Given the description of an element on the screen output the (x, y) to click on. 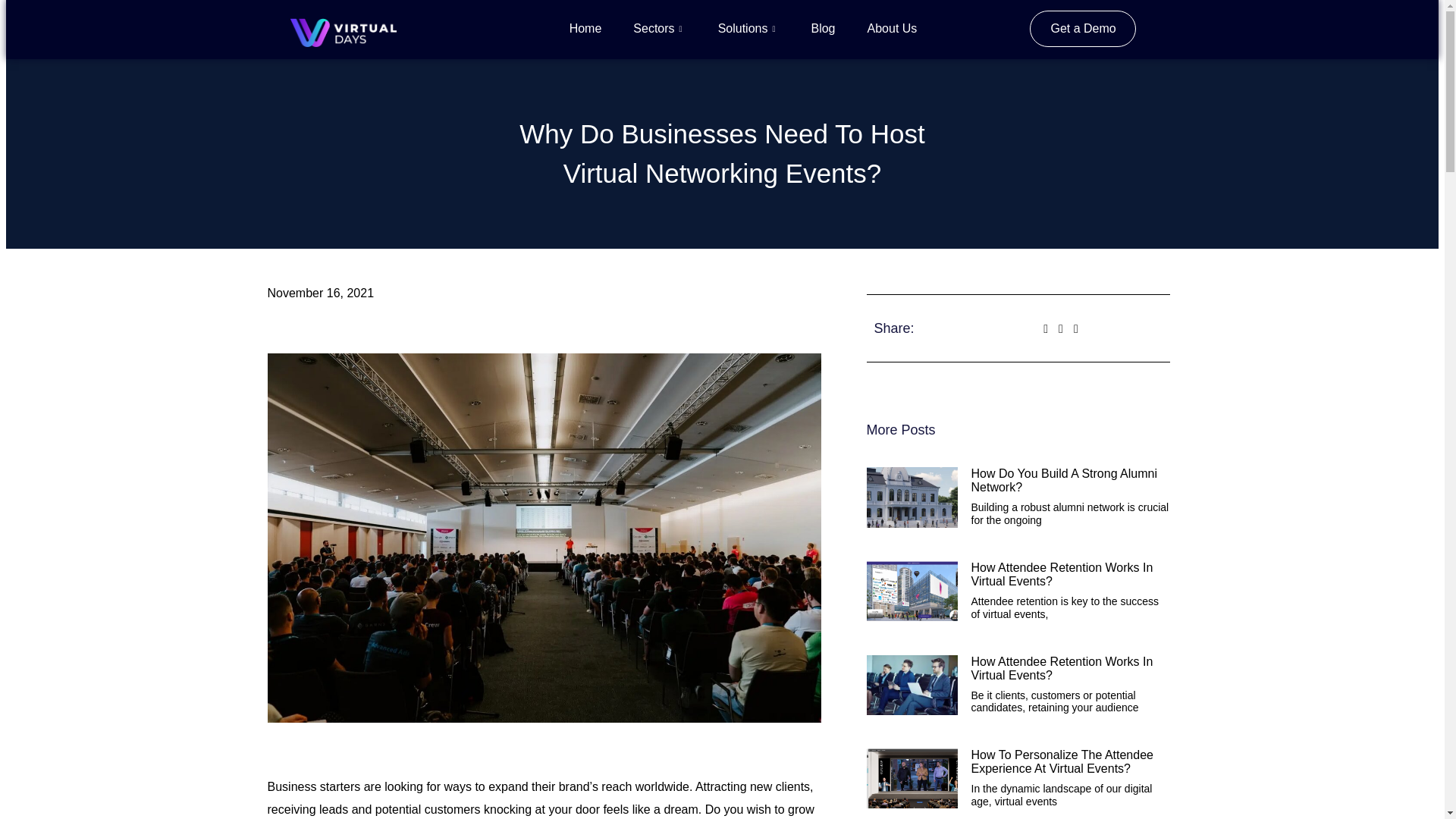
How Do You Build A Strong Alumni Network? (1064, 479)
How Attendee Retention Works In Virtual Events? (1062, 574)
About Us (892, 29)
Home (585, 29)
Blog (822, 29)
Sectors (659, 29)
Solutions (747, 29)
November 16, 2021 (320, 293)
Get a Demo (1082, 28)
